Given the description of an element on the screen output the (x, y) to click on. 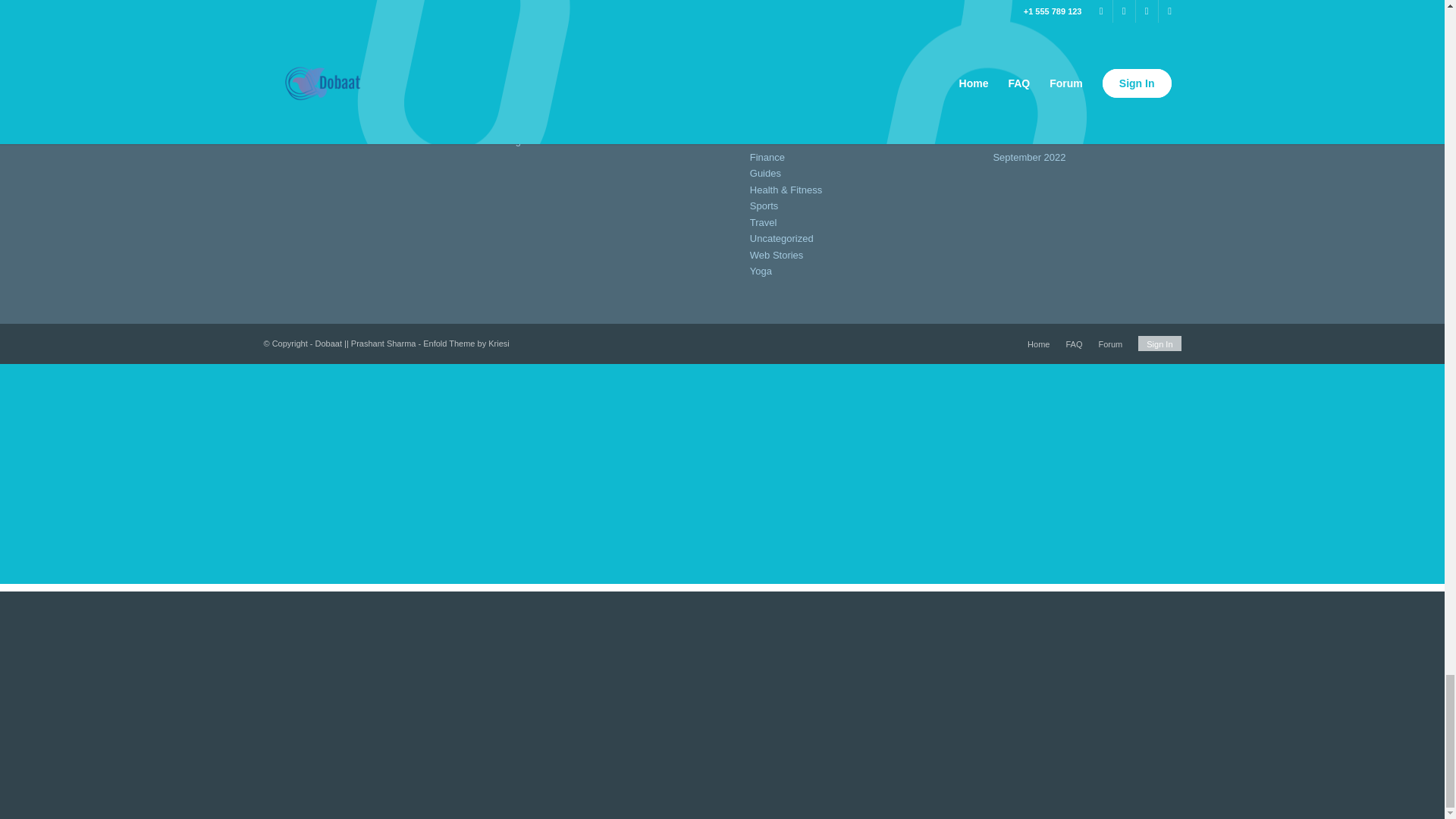
Custom Forum Page (551, 75)
FAQ (515, 91)
Sign In (521, 140)
Home (519, 108)
Register (524, 124)
